Given the description of an element on the screen output the (x, y) to click on. 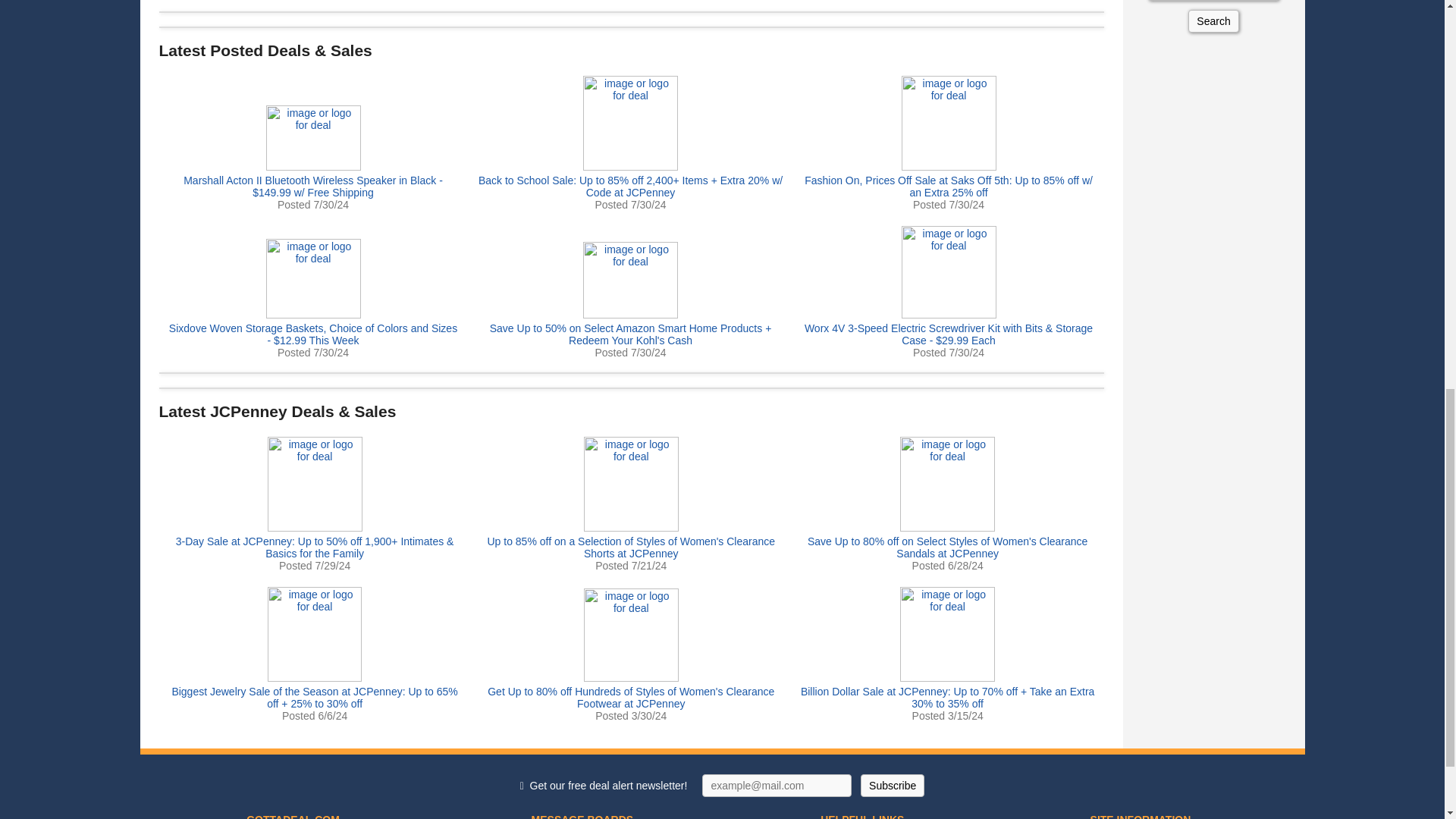
Subscribe (892, 784)
